Given the description of an element on the screen output the (x, y) to click on. 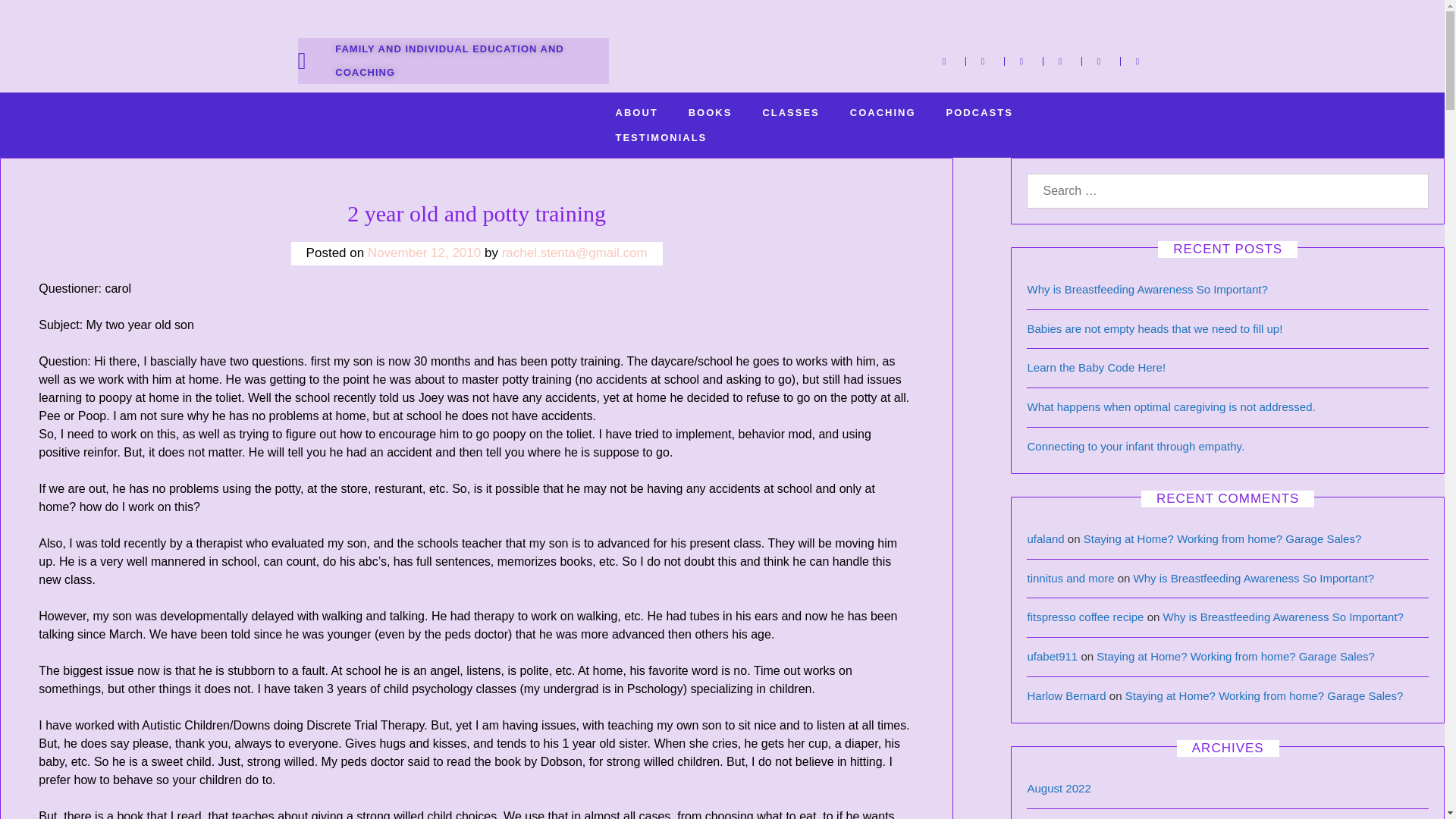
Staying at Home? Working from home? Garage Sales? (1264, 695)
Why is Breastfeeding Awareness So Important? (1254, 577)
Babies are not empty heads that we need to fill up! (1154, 328)
Staying at Home? Working from home? Garage Sales? (1235, 656)
Why is Breastfeeding Awareness So Important? (1146, 288)
tinnitus and more (1069, 577)
Why is Breastfeeding Awareness So Important? (1283, 616)
Connecting to your infant through empathy. (1135, 445)
PODCASTS (979, 112)
CLASSES (790, 112)
ufaland (1045, 538)
BOOKS (710, 112)
TESTIMONIALS (660, 137)
Harlow Bernard (1065, 695)
Learn the Baby Code Here! (1096, 367)
